Given the description of an element on the screen output the (x, y) to click on. 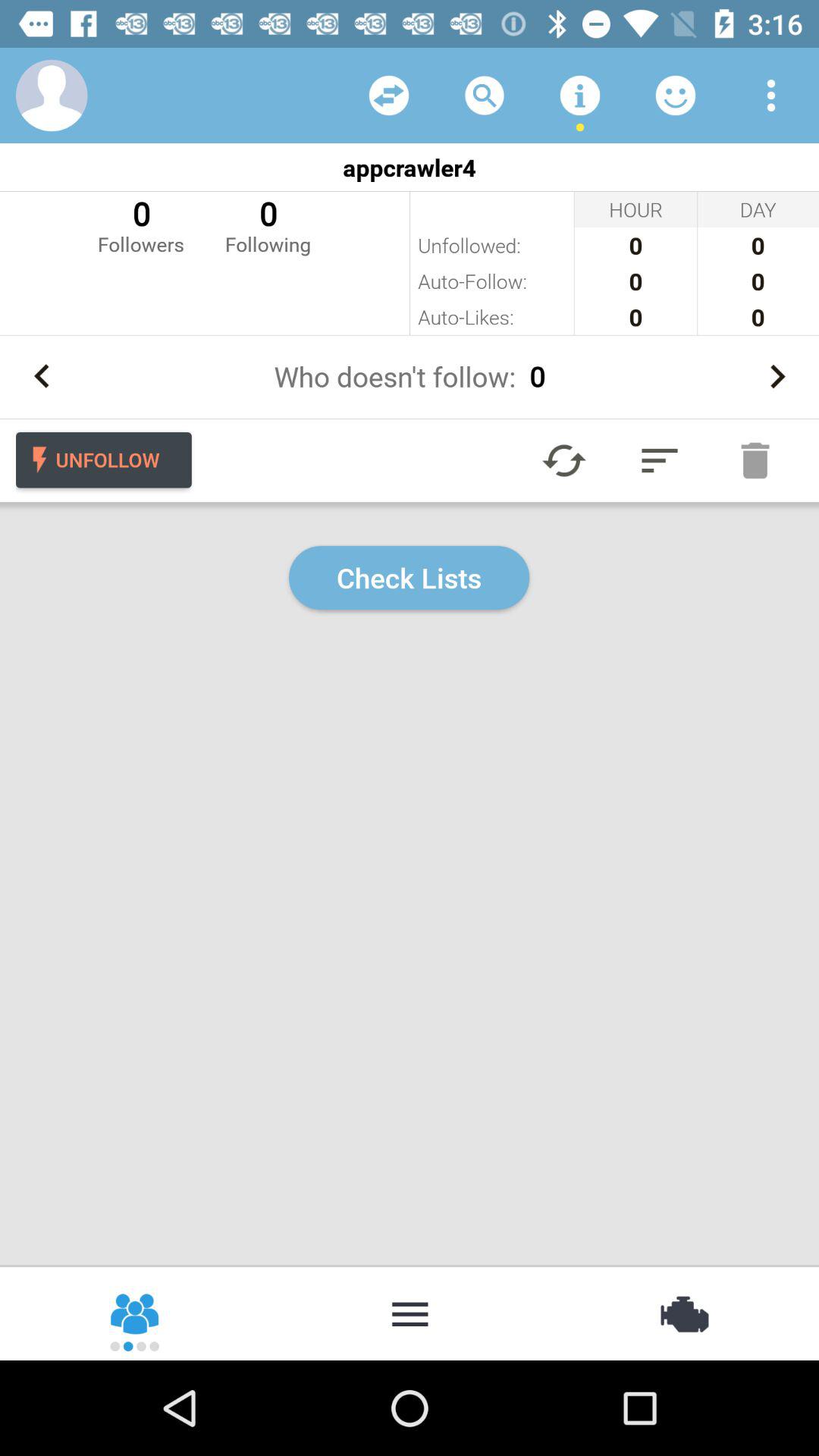
search the app (484, 95)
